Given the description of an element on the screen output the (x, y) to click on. 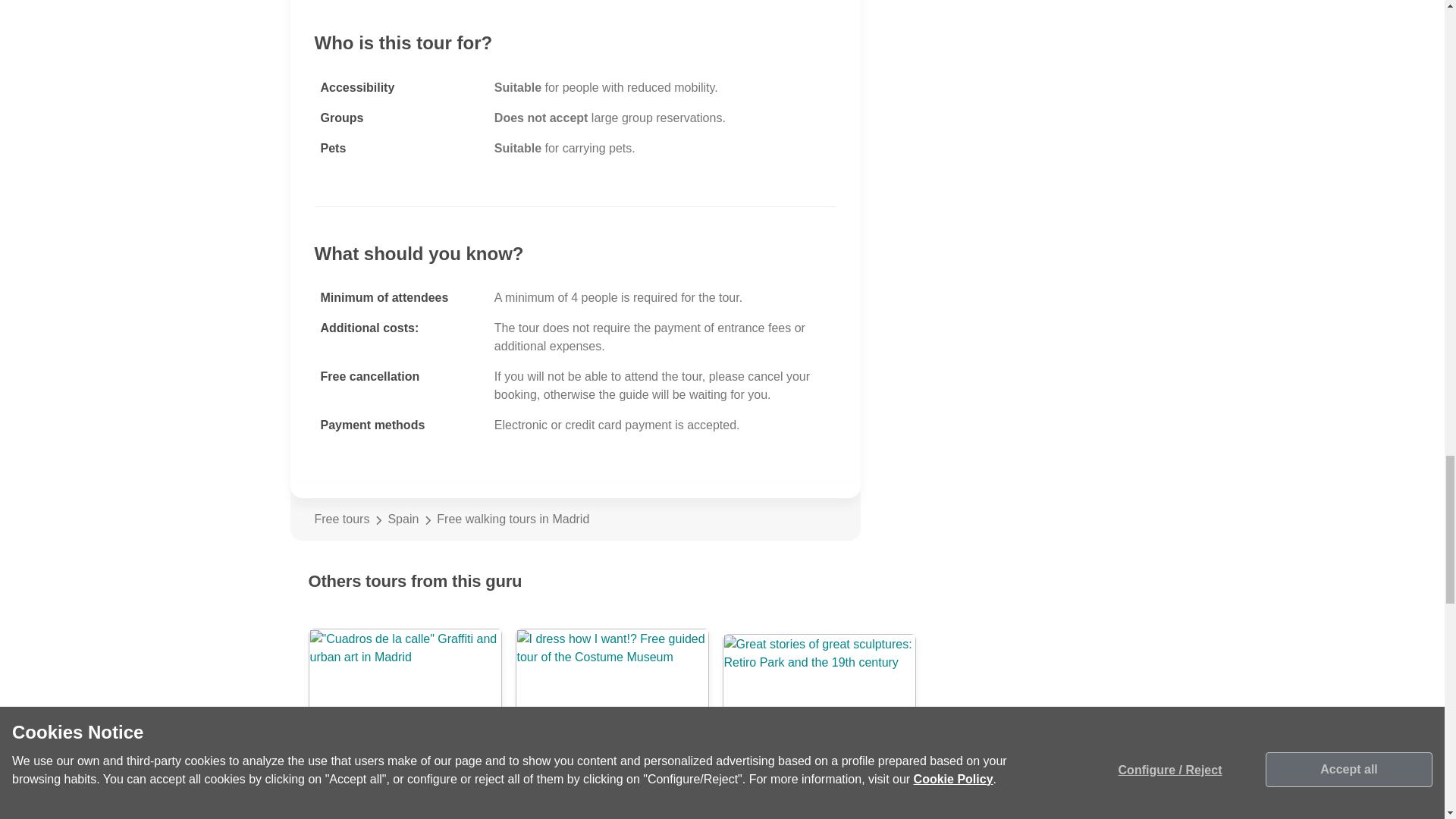
Spain (403, 519)
Free walking tours in Madrid (635, 519)
Free tours (341, 519)
